Given the description of an element on the screen output the (x, y) to click on. 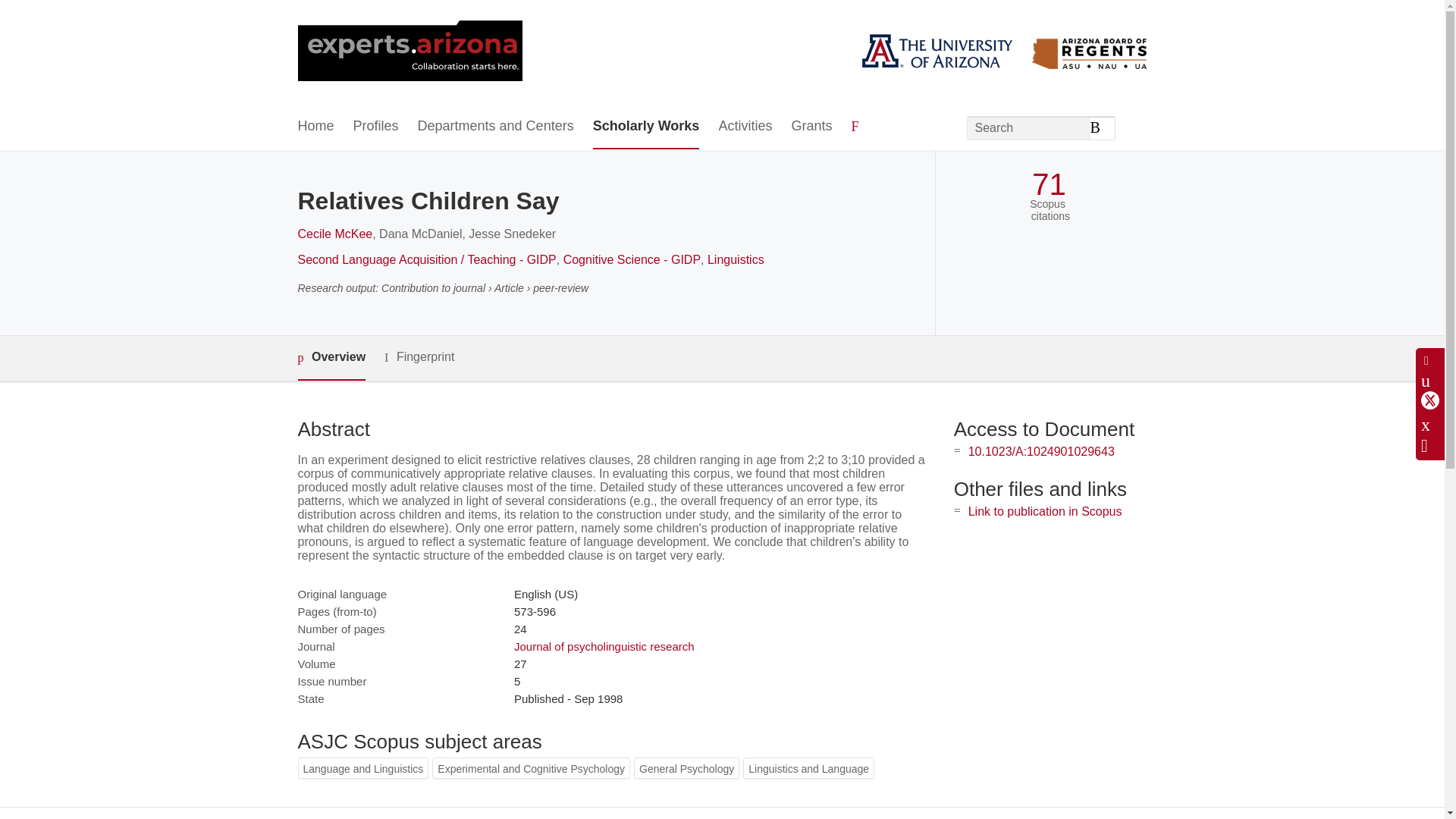
Scholarly Works (646, 126)
Activities (744, 126)
Cognitive Science - GIDP (631, 259)
71 (1048, 184)
University of Arizona Home (409, 52)
Departments and Centers (495, 126)
Fingerprint (419, 357)
Overview (331, 357)
Link to publication in Scopus (1045, 511)
